Given the description of an element on the screen output the (x, y) to click on. 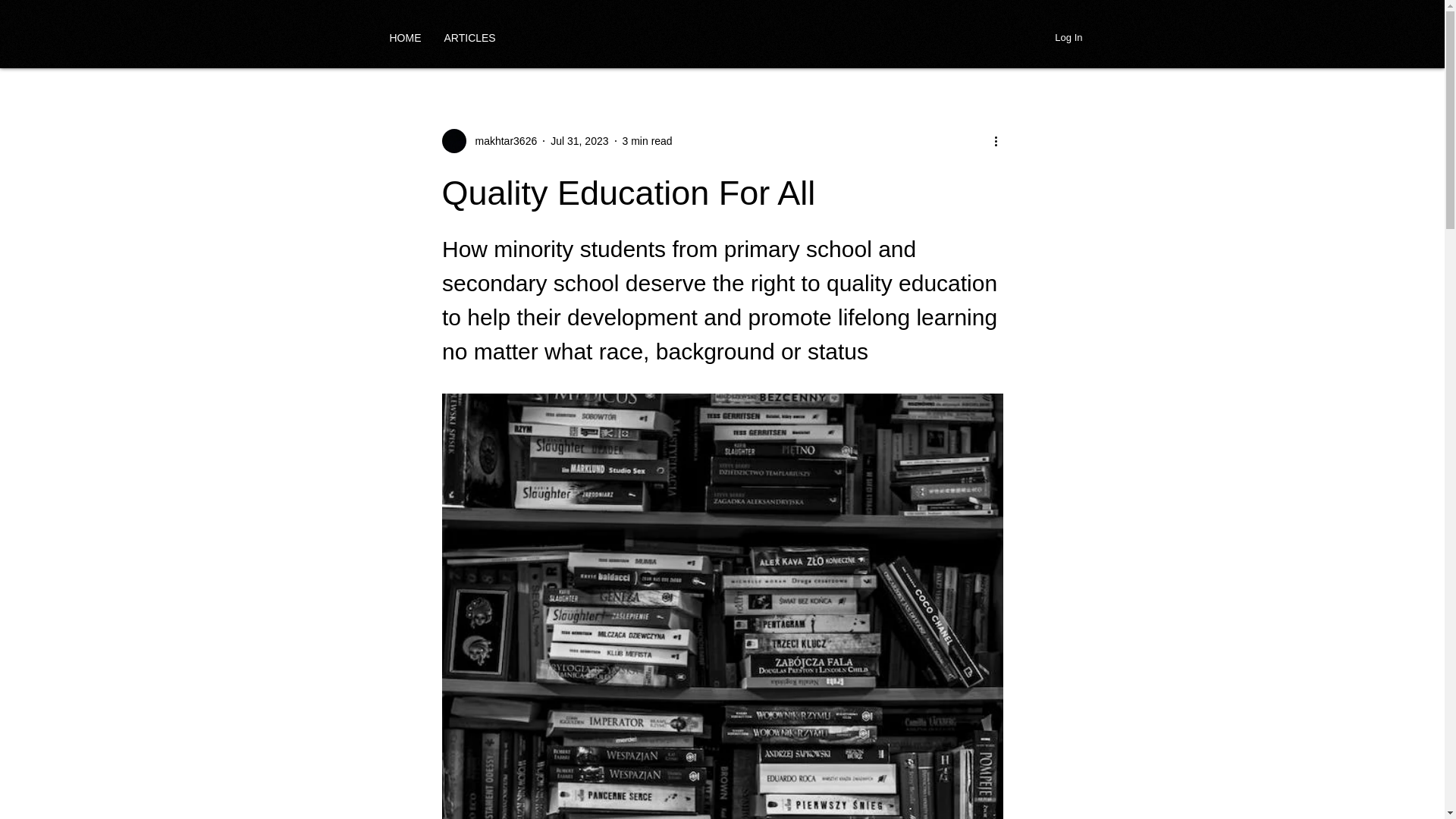
Log In (1068, 37)
3 min read (647, 141)
Jul 31, 2023 (579, 141)
HOME (404, 37)
makhtar3626 (489, 140)
makhtar3626 (501, 141)
ARTICLES (468, 37)
